Given the description of an element on the screen output the (x, y) to click on. 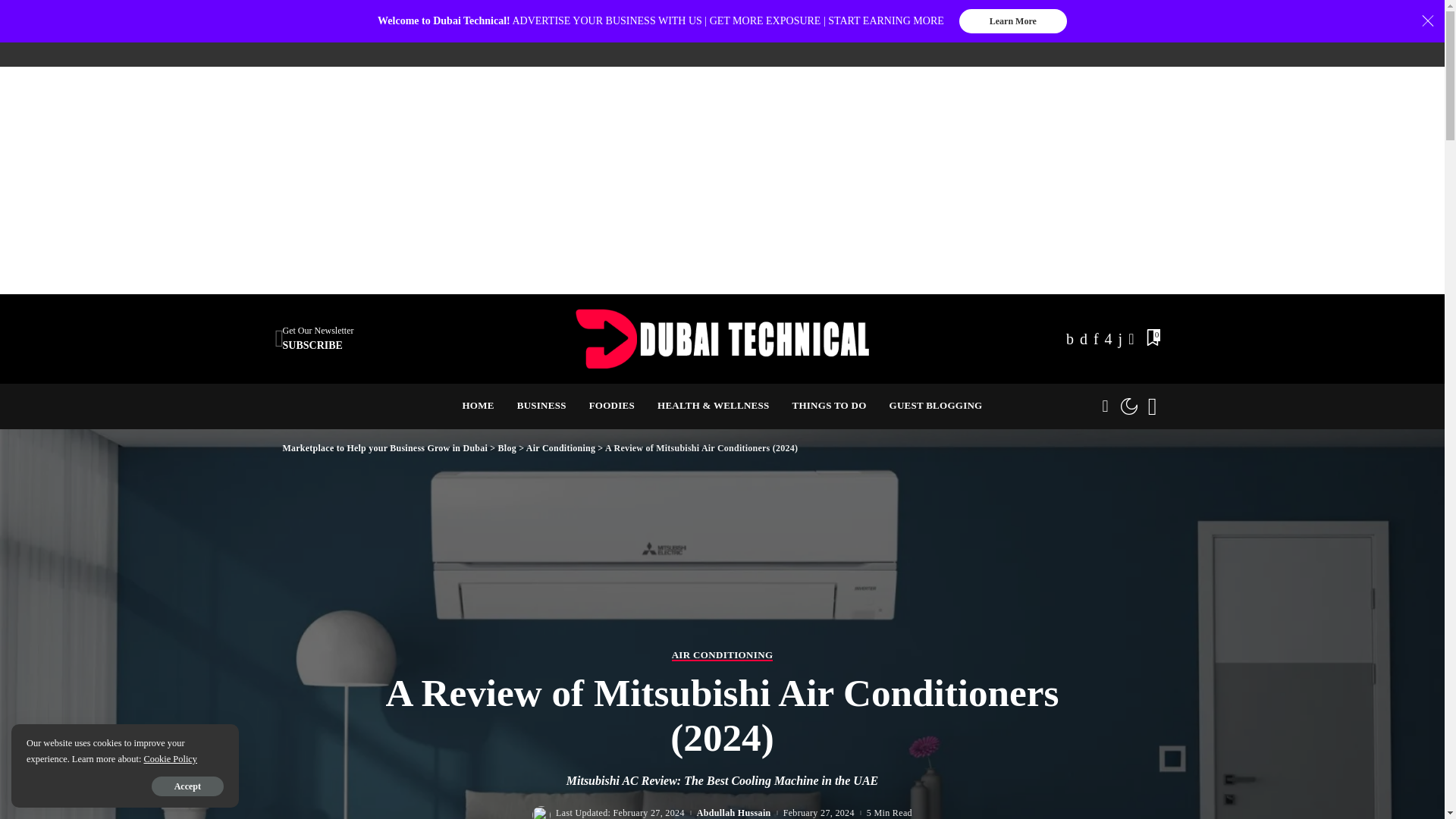
FOODIES (612, 406)
Learn More (1013, 21)
Home (317, 338)
Marketplace to Help your Business Grow in Dubai (477, 406)
BUSINESS (722, 338)
HOME (541, 406)
